Given the description of an element on the screen output the (x, y) to click on. 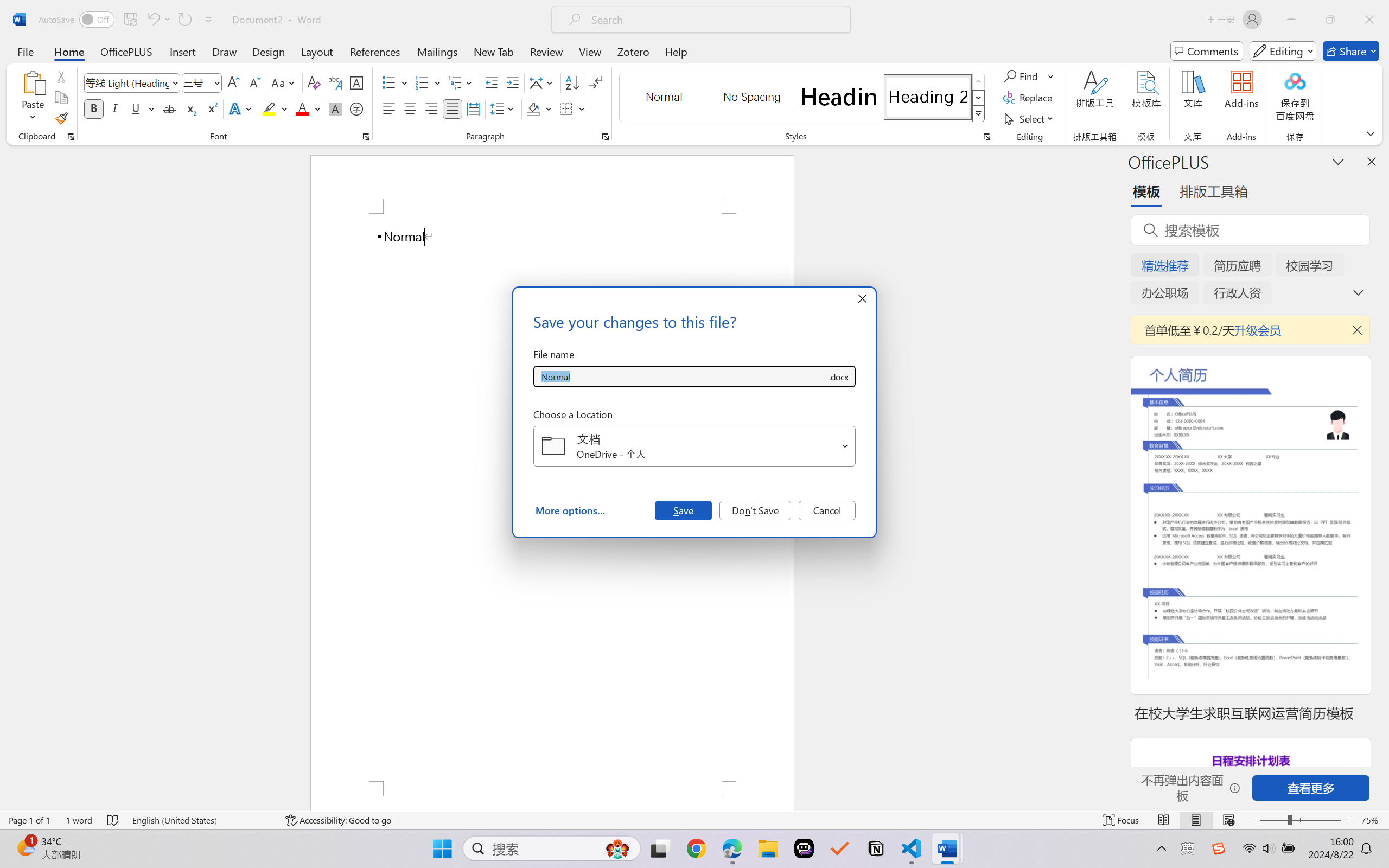
Google Chrome (696, 848)
Spelling and Grammar Check No Errors (113, 819)
Read Mode (1163, 819)
Open (844, 446)
Save (682, 509)
Paragraph... (605, 136)
Paste (33, 81)
Increase Indent (512, 82)
Design (268, 51)
